Given the description of an element on the screen output the (x, y) to click on. 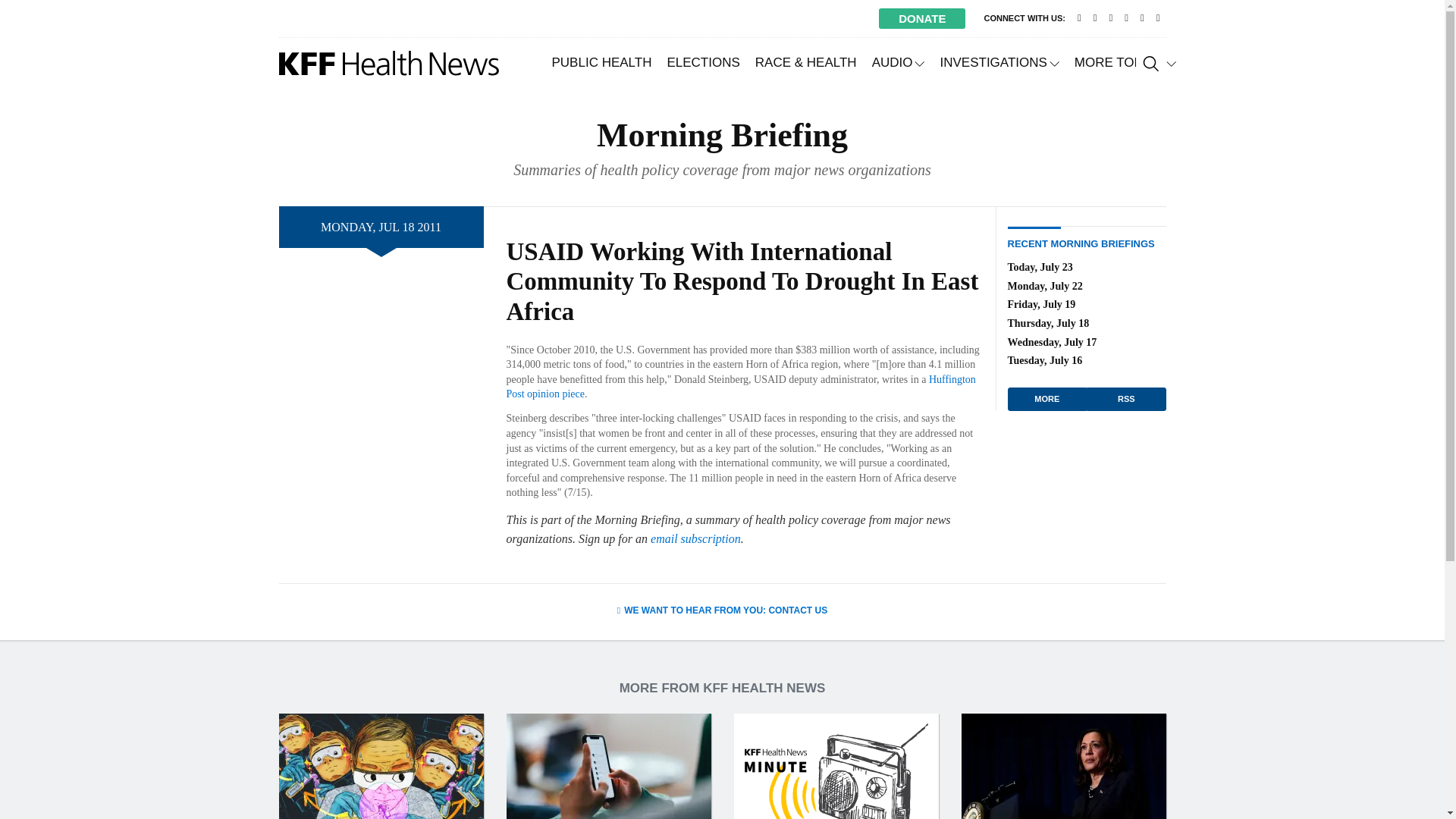
MORE TOPICS (1125, 61)
PUBLIC HEALTH (601, 61)
Instagram (1142, 18)
Instagram (1142, 18)
RSS (1158, 18)
Facebook (1110, 18)
Facebook (1110, 18)
RSS (1158, 18)
LinkedIn (1126, 18)
ELECTIONS (702, 61)
DONATE (922, 18)
Twitter (1095, 18)
Twitter (1095, 18)
LinkedIn (1126, 18)
INVESTIGATIONS (998, 61)
